Given the description of an element on the screen output the (x, y) to click on. 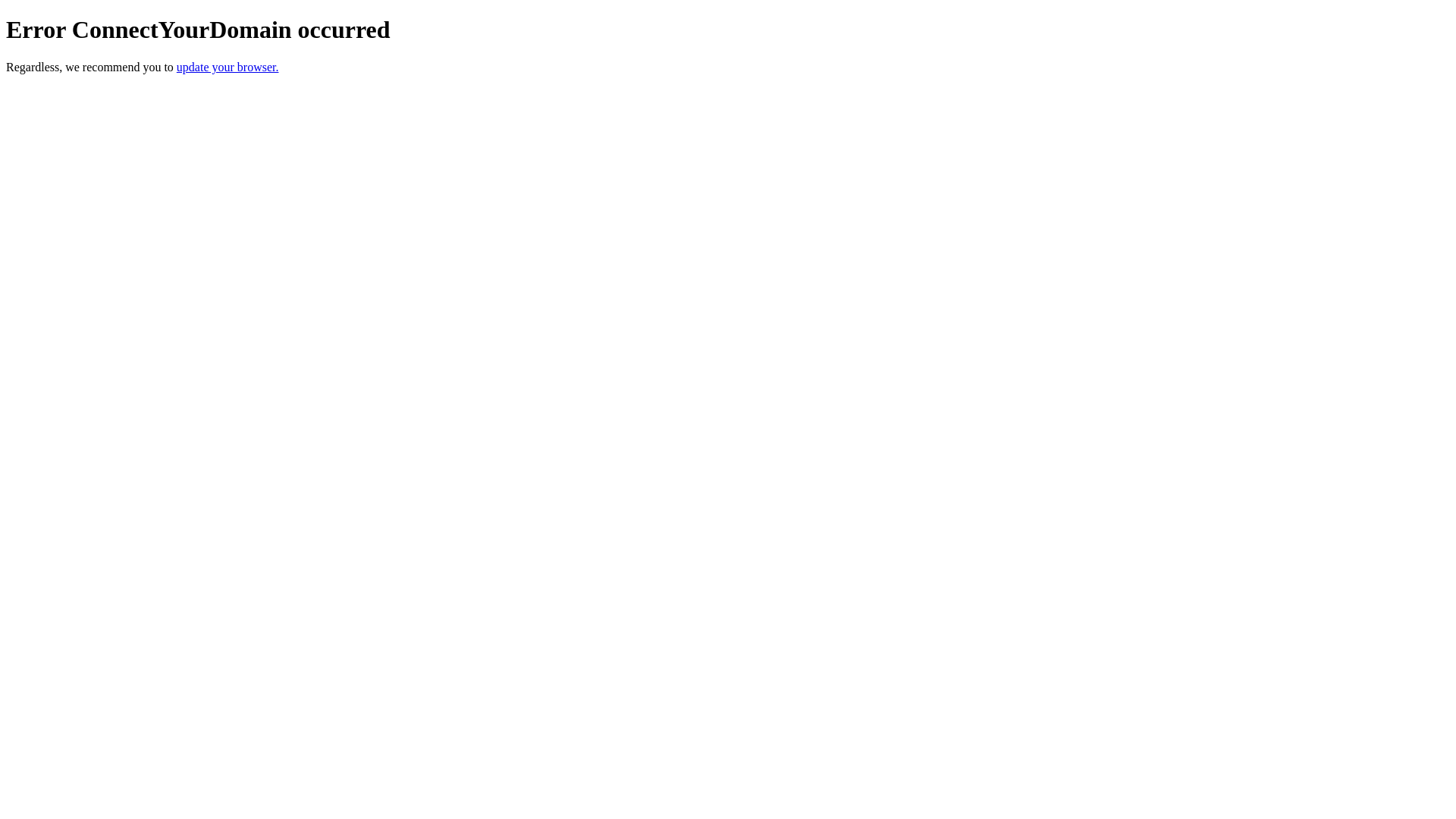
update your browser. Element type: text (227, 66)
